Given the description of an element on the screen output the (x, y) to click on. 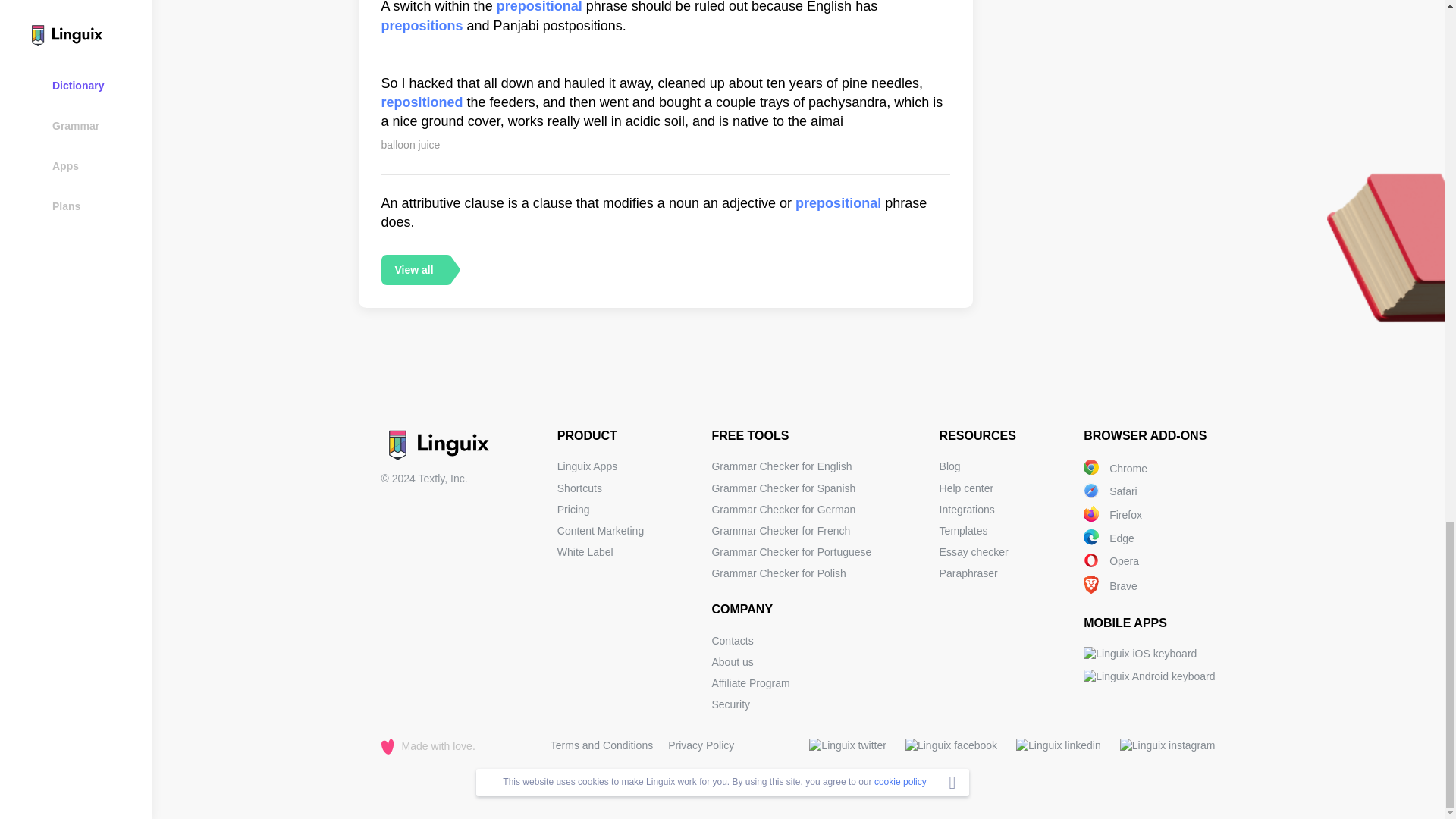
Grammar Checker for English (781, 466)
Shortcuts (579, 488)
Paraphraser (968, 573)
Grammar Checker for French (780, 530)
Grammar Checker for Portuguese (790, 551)
Essay checker (974, 551)
Grammar Checker for Polish (778, 573)
View all (413, 269)
Grammar Checker for Spanish (783, 488)
Grammar Checker for German (783, 509)
